Given the description of an element on the screen output the (x, y) to click on. 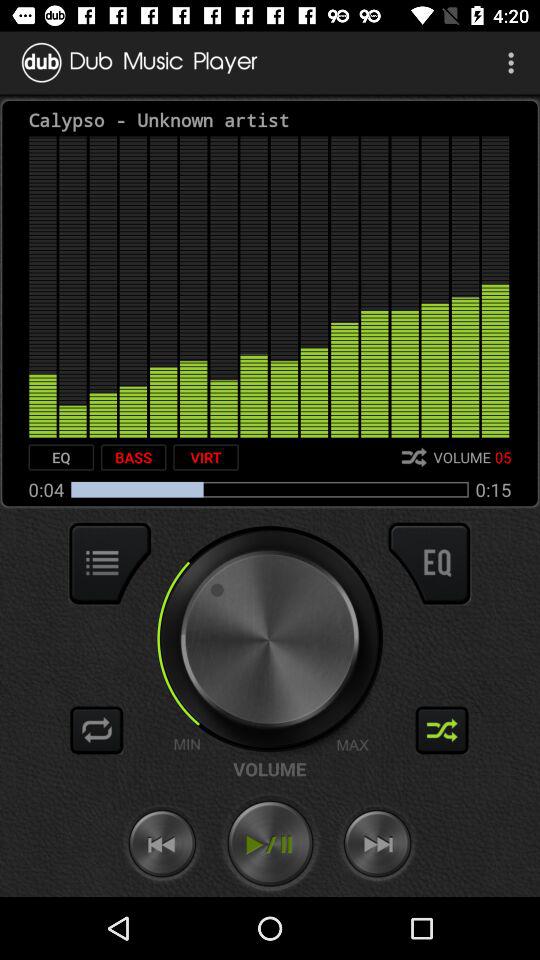
go to next track (377, 844)
